Given the description of an element on the screen output the (x, y) to click on. 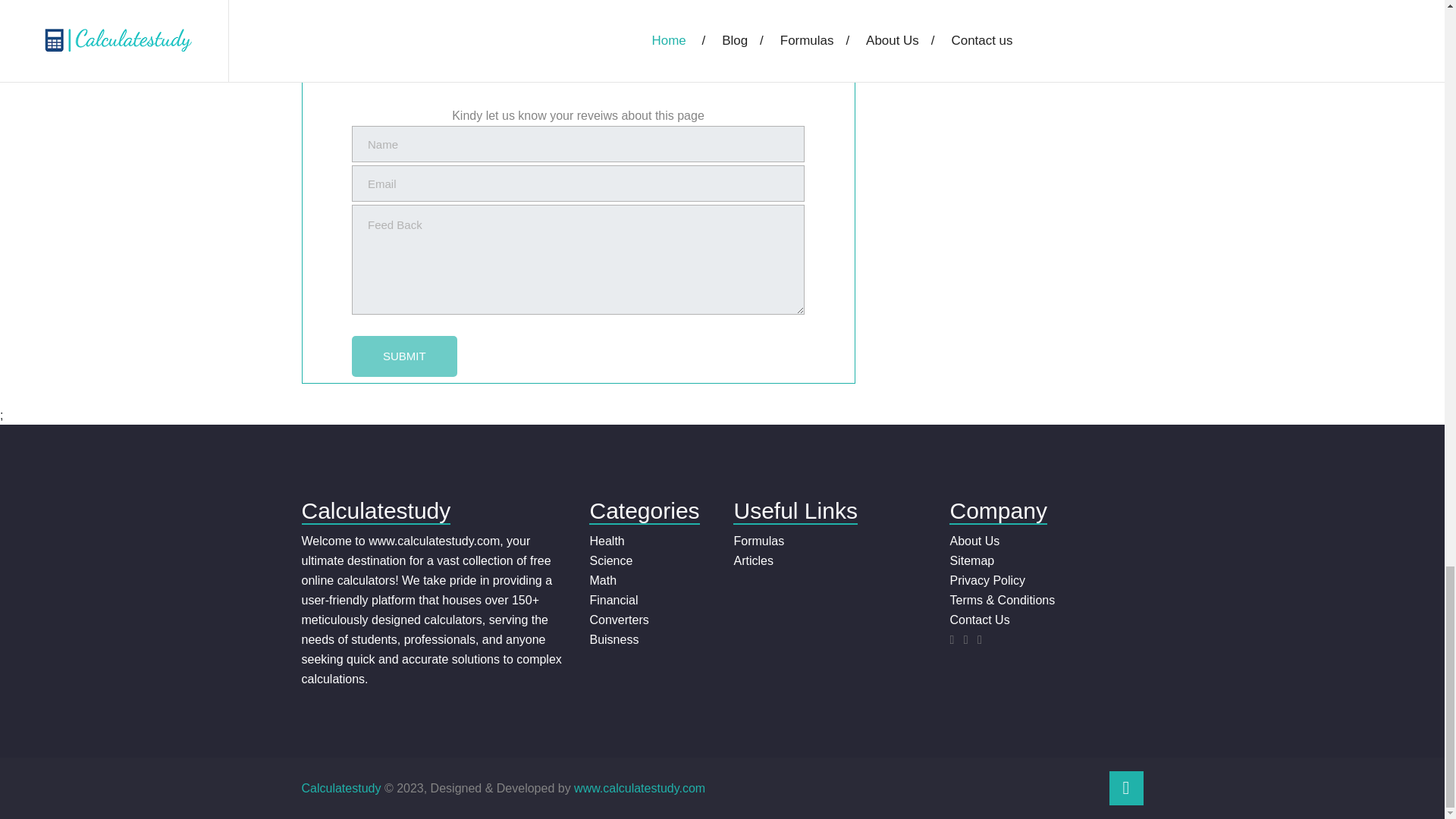
SUBMIT (404, 356)
Math (602, 580)
Health (606, 540)
Science (610, 560)
